Given the description of an element on the screen output the (x, y) to click on. 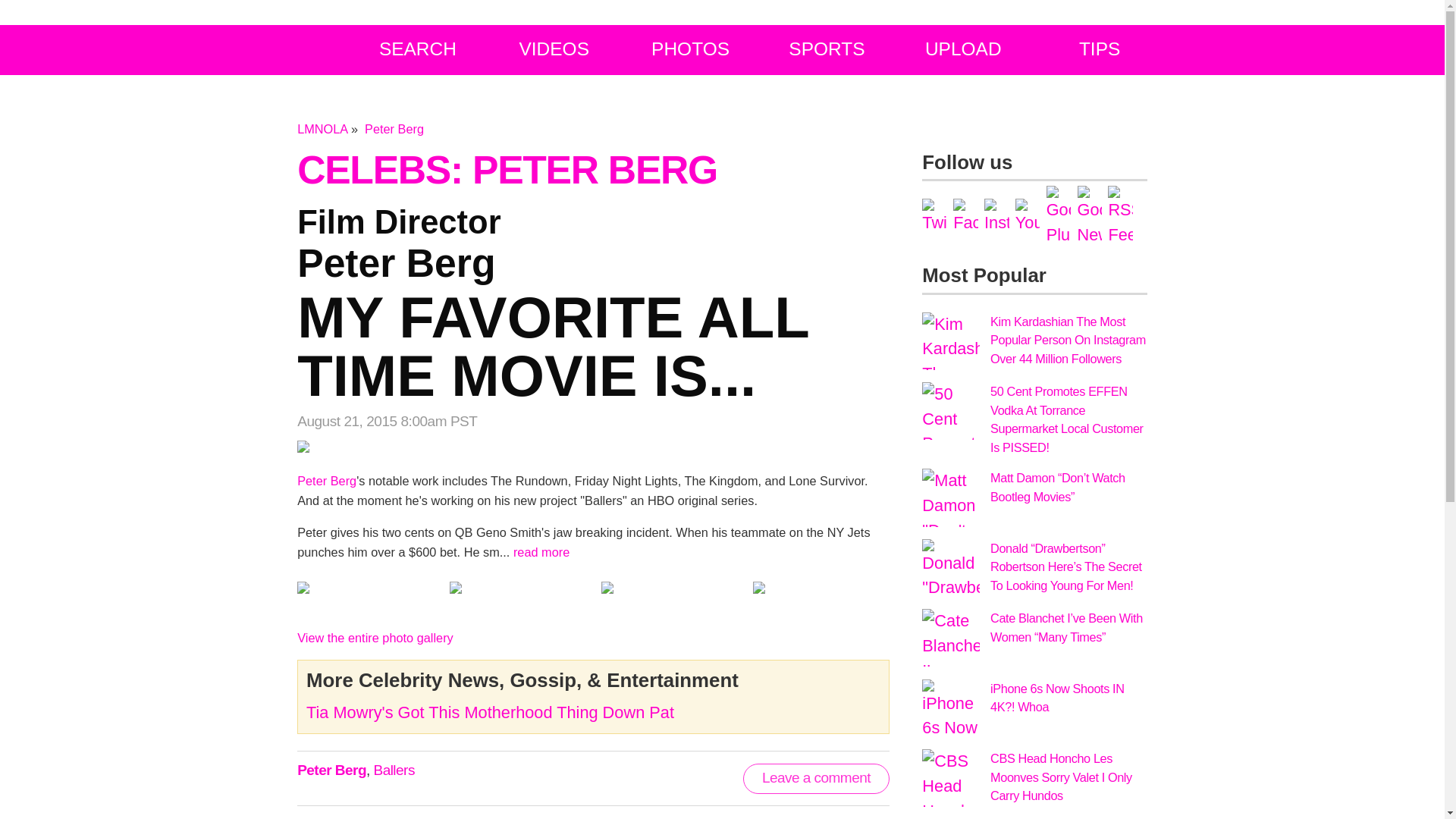
Leave a comment (815, 778)
SPORTS (826, 49)
View the entire photo gallery (593, 305)
TIPS (374, 637)
Tia Mowry's Got This Motherhood Thing Down Pat (1099, 49)
UPLOAD (489, 711)
LMNO.LA (963, 49)
SEARCH (275, 48)
Peter Berg (417, 49)
